Given the description of an element on the screen output the (x, y) to click on. 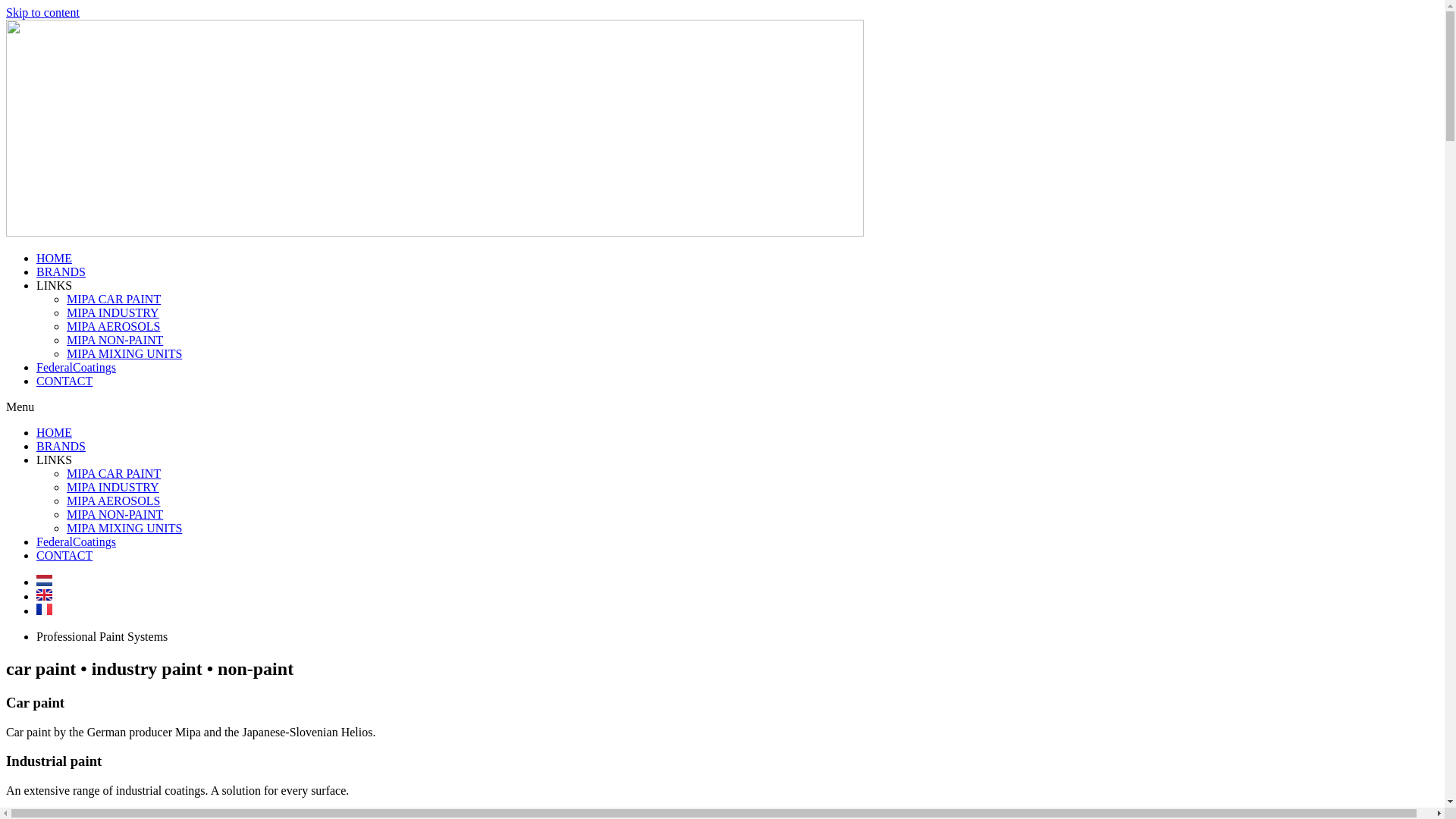
BRANDS Element type: text (60, 445)
CONTACT Element type: text (64, 555)
MIPA INDUSTRY Element type: text (112, 312)
HOME Element type: text (54, 257)
MIPA CAR PAINT Element type: text (113, 298)
HOME Element type: text (54, 432)
LINKS Element type: text (54, 459)
CONTACT Element type: text (64, 380)
MIPA CAR PAINT Element type: text (113, 473)
FederalCoatings Element type: text (76, 541)
MIPA MIXING UNITS Element type: text (124, 527)
FederalCoatings Element type: text (76, 366)
MIPA NON-PAINT Element type: text (114, 339)
MIPA AEROSOLS Element type: text (113, 326)
LINKS Element type: text (54, 285)
MIPA INDUSTRY Element type: text (112, 486)
MIPA NON-PAINT Element type: text (114, 514)
MIPA MIXING UNITS Element type: text (124, 353)
BRANDS Element type: text (60, 271)
MIPA AEROSOLS Element type: text (113, 500)
Skip to content Element type: text (42, 12)
